Given the description of an element on the screen output the (x, y) to click on. 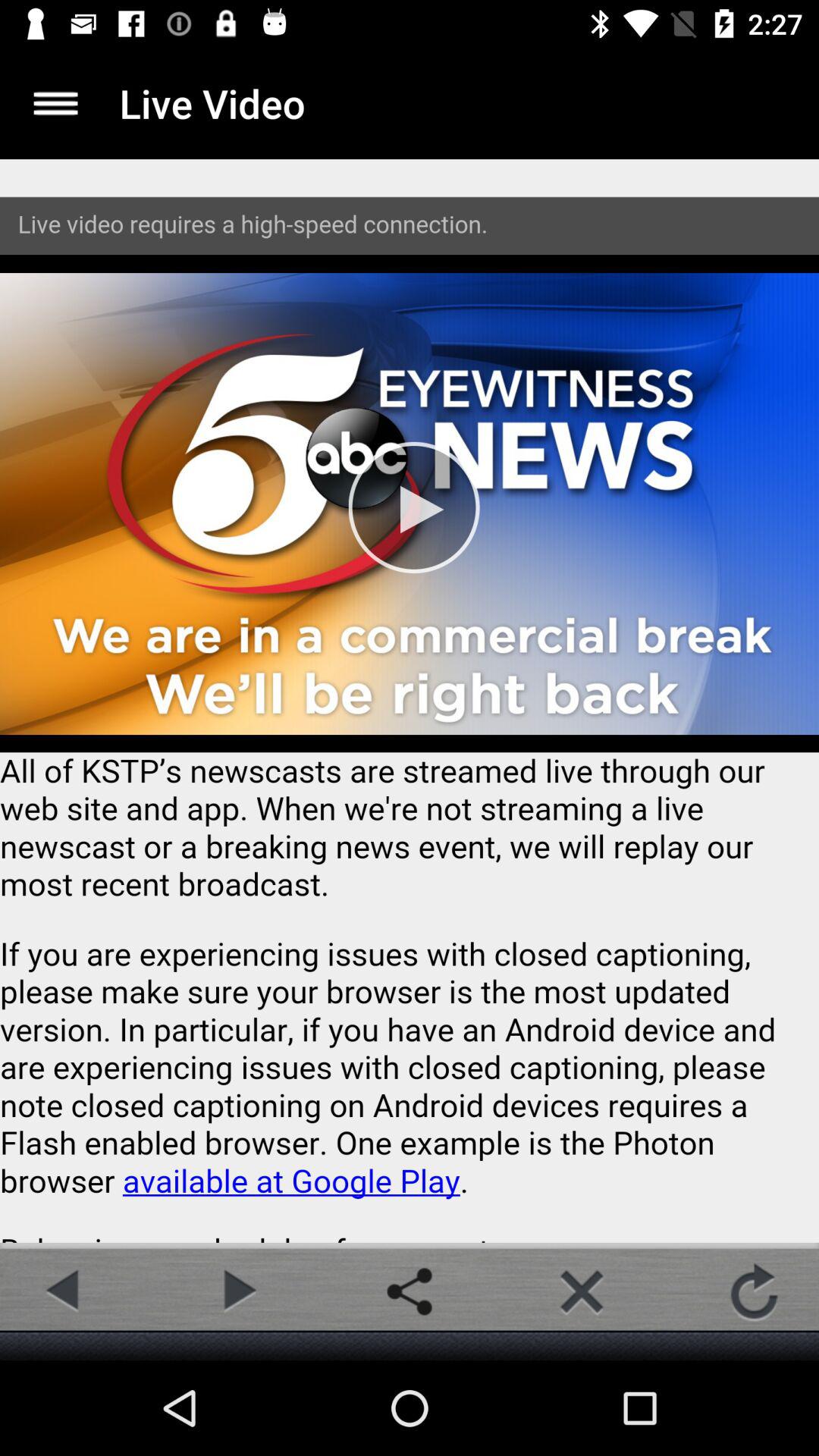
go previous (64, 1291)
